Given the description of an element on the screen output the (x, y) to click on. 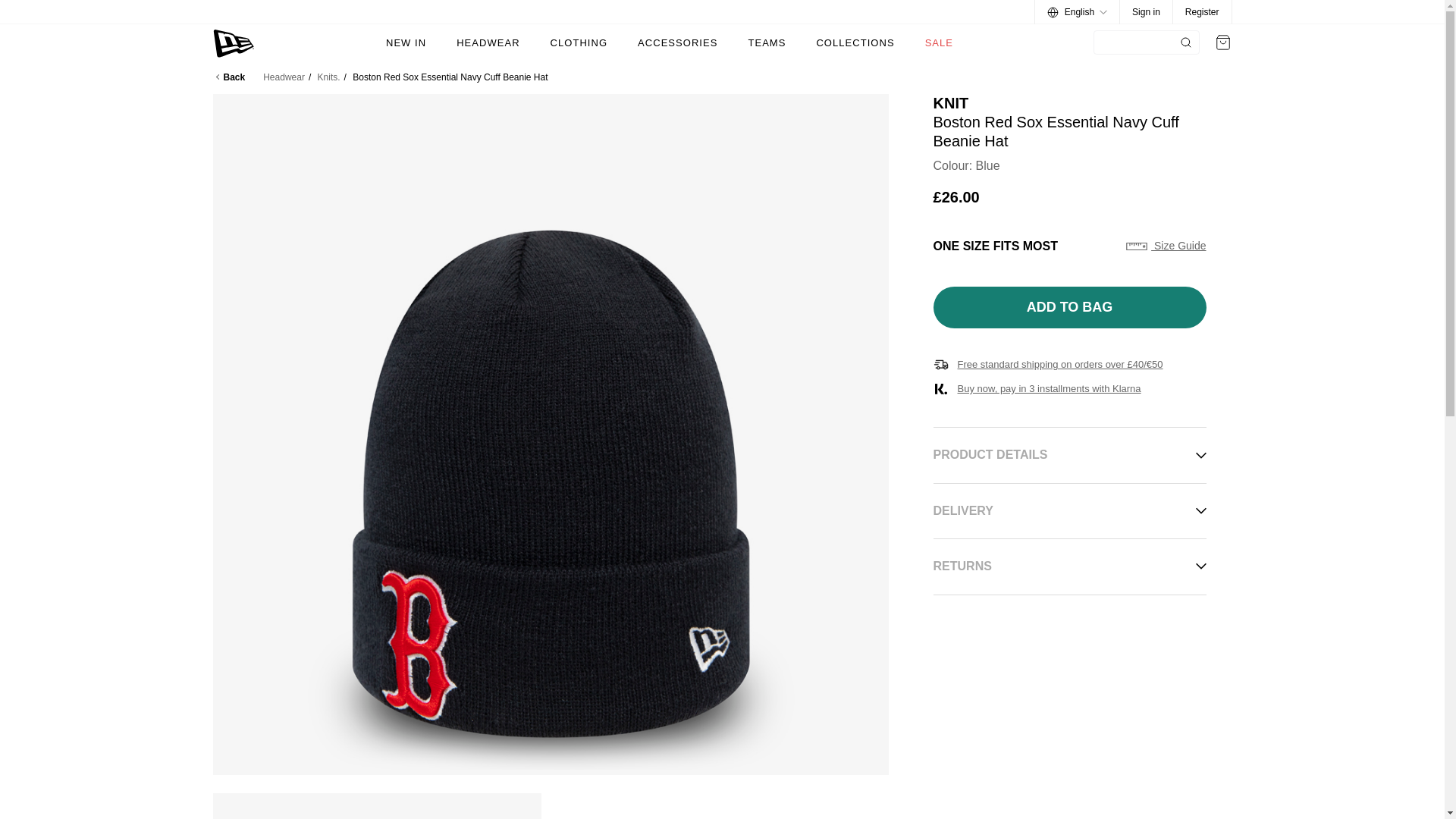
New Era Logo (234, 42)
Sign in (1146, 12)
HEADWEAR (488, 42)
Buy now, pay in 3 installments with Klarna (1070, 388)
New Era logo (234, 42)
English (1076, 12)
NEW IN (405, 42)
Search (1185, 42)
Register (1202, 12)
